Given the description of an element on the screen output the (x, y) to click on. 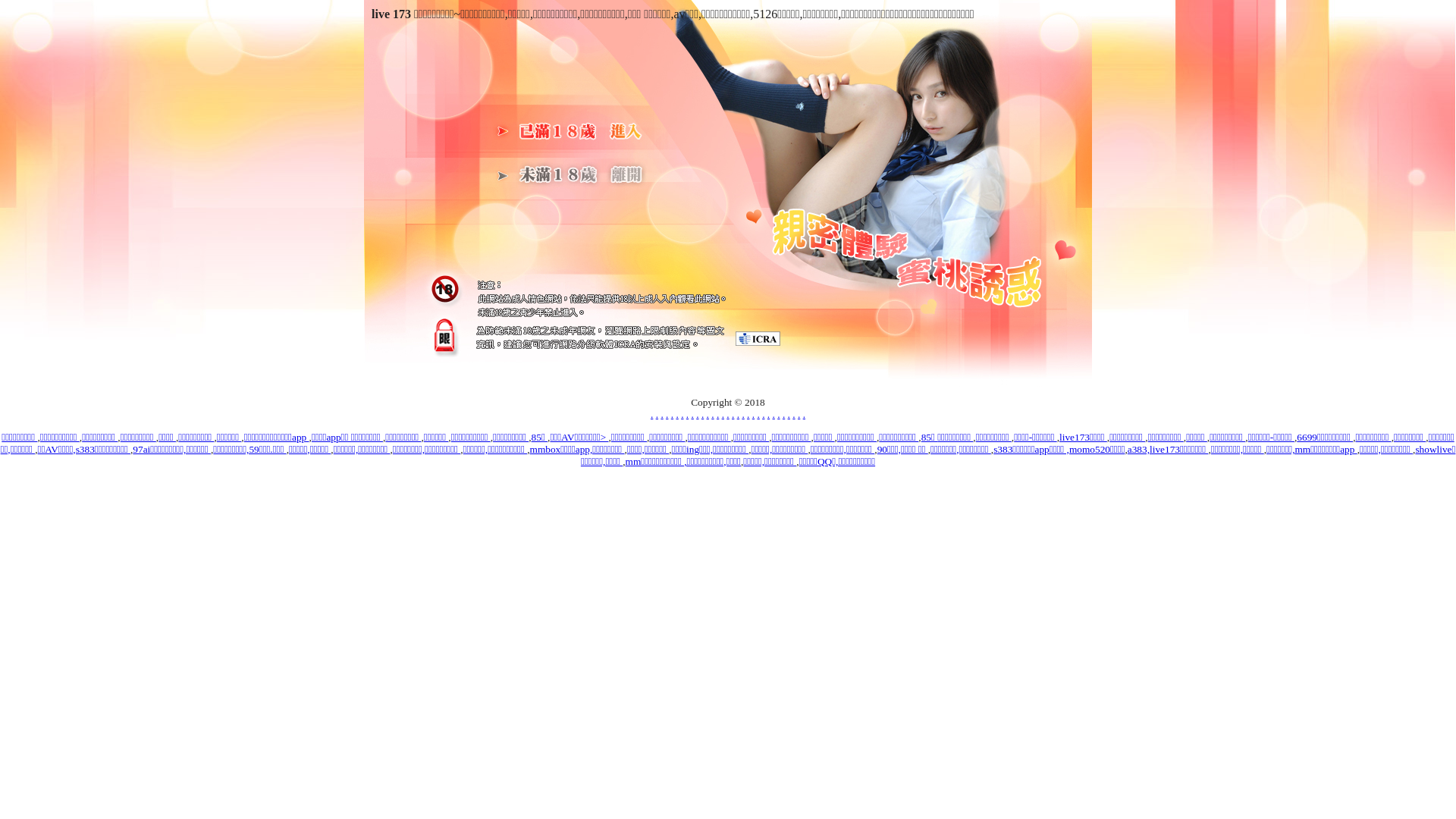
. Element type: text (702, 414)
. Element type: text (697, 414)
. Element type: text (672, 414)
. Element type: text (732, 414)
. Element type: text (738, 414)
. Element type: text (687, 414)
. Element type: text (783, 414)
. Element type: text (681, 414)
. Element type: text (804, 414)
. Element type: text (742, 414)
. Element type: text (712, 414)
. Element type: text (747, 414)
. Element type: text (656, 414)
. Element type: text (666, 414)
. Element type: text (778, 414)
. Element type: text (717, 414)
. Element type: text (727, 414)
. Element type: text (707, 414)
. Element type: text (651, 414)
. Element type: text (757, 414)
. Element type: text (676, 414)
. Element type: text (763, 414)
. Element type: text (788, 414)
. Element type: text (793, 414)
. Element type: text (692, 414)
. Element type: text (773, 414)
. Element type: text (753, 414)
. Element type: text (661, 414)
. Element type: text (798, 414)
. Element type: text (768, 414)
. Element type: text (722, 414)
